Given the description of an element on the screen output the (x, y) to click on. 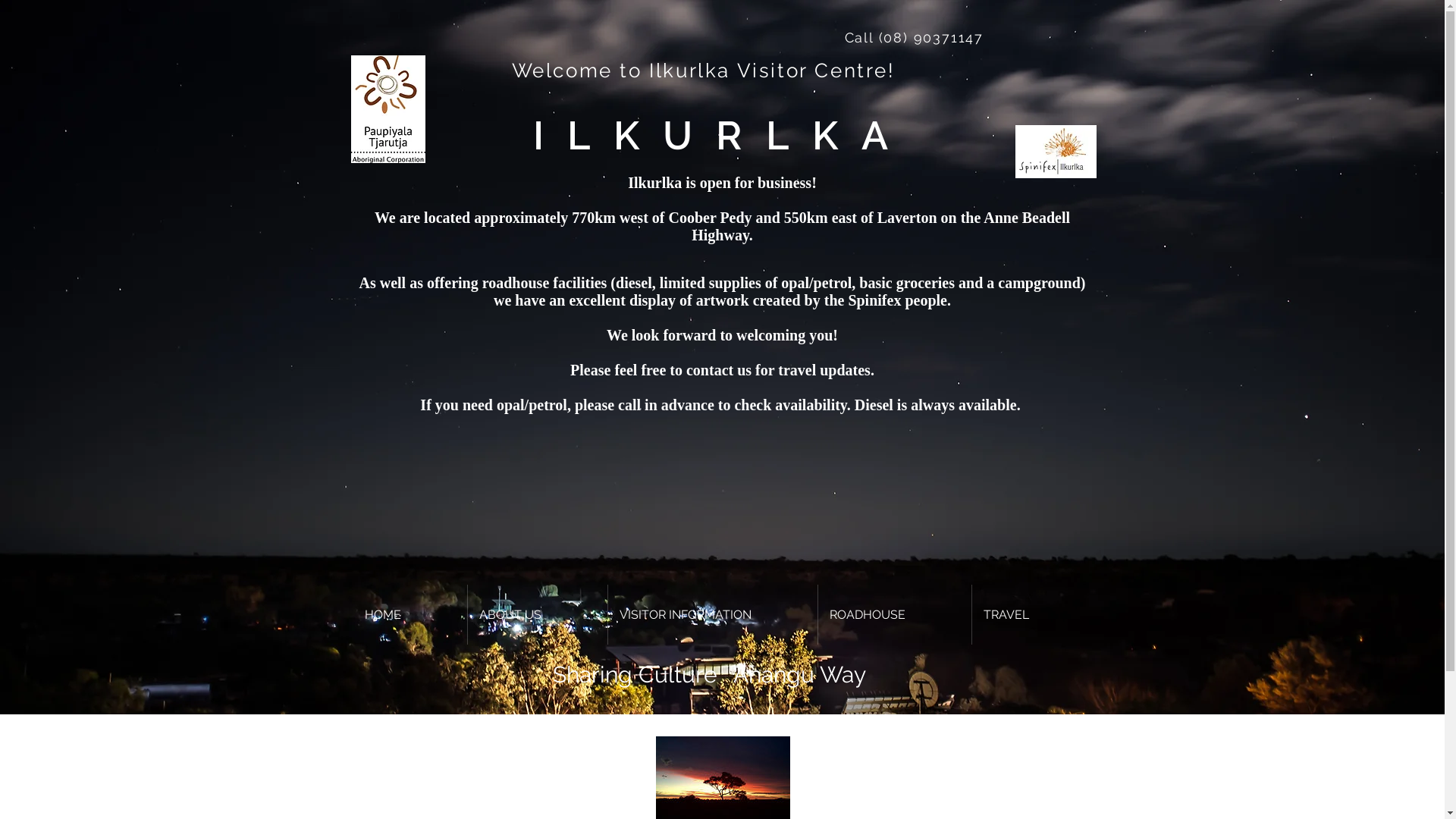
Logo high quality.jpg Element type: hover (387, 109)
ROADHOUSE Element type: text (893, 614)
Ilkurlka Spinifex Logo.JPG Element type: hover (1054, 151)
HOME Element type: text (410, 614)
